Given the description of an element on the screen output the (x, y) to click on. 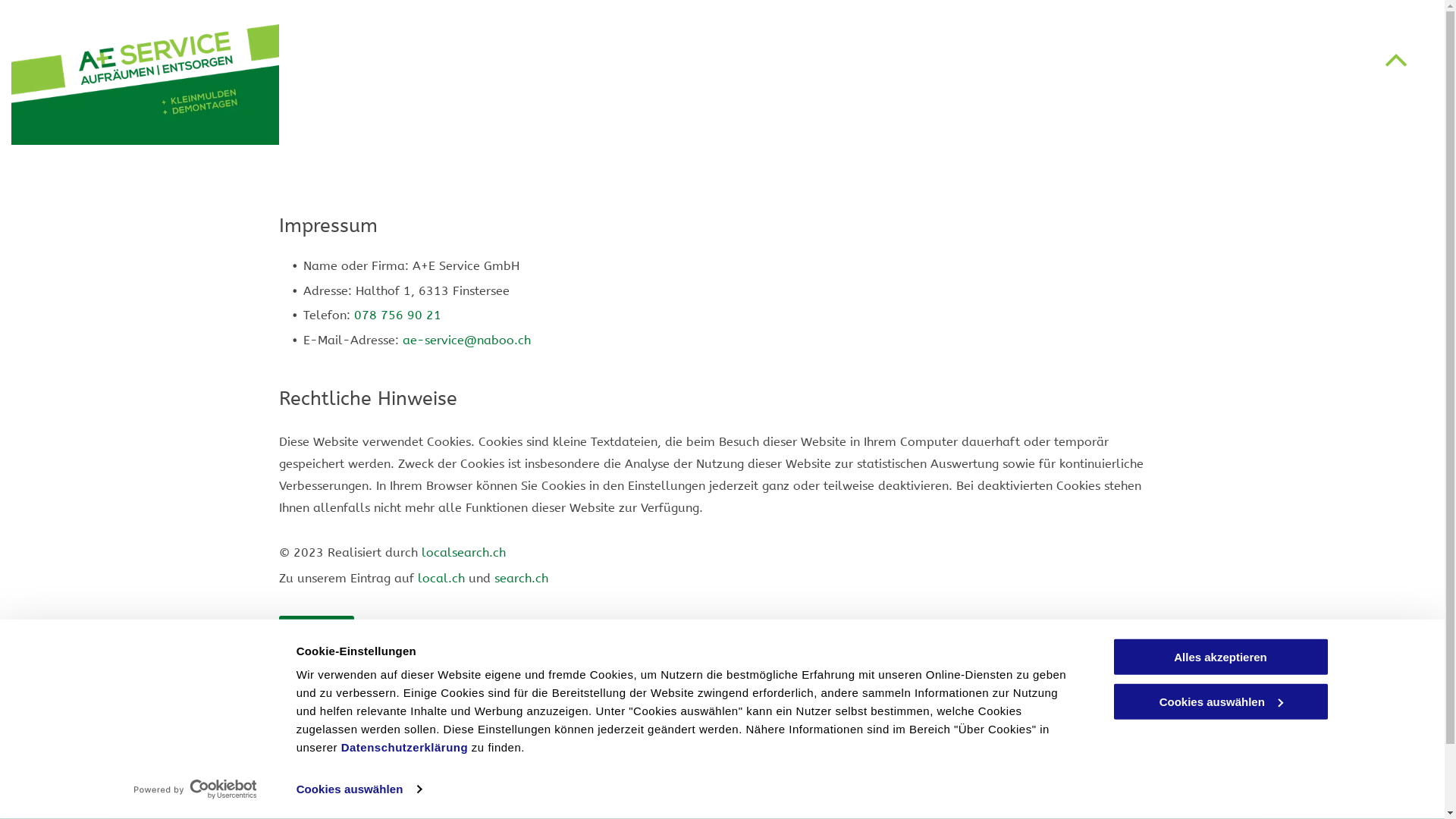
078 756 90 21 Element type: text (396, 314)
localsearch.ch Element type: text (463, 552)
ae-service@naboo.ch Element type: text (465, 339)
078 756 90 21 Element type: text (549, 766)
Alles akzeptieren Element type: text (1219, 656)
Impressum Element type: text (1144, 748)
ae-service@naboo.ch Element type: text (570, 807)
local.ch Element type: text (440, 578)
search.ch Element type: text (521, 578)
